Given the description of an element on the screen output the (x, y) to click on. 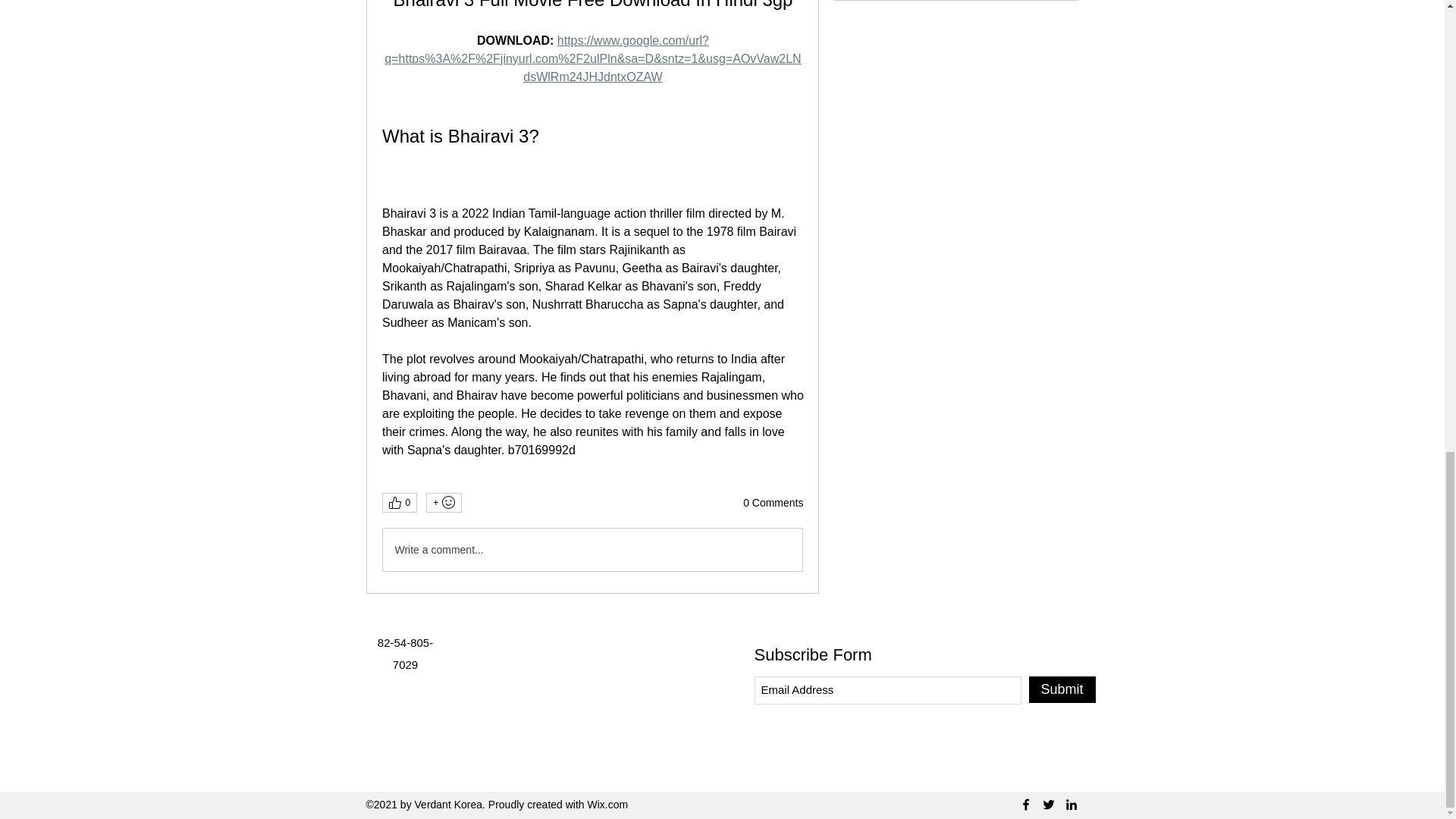
0 Comments (772, 503)
Submit (1060, 689)
Write a comment... (591, 549)
